Given the description of an element on the screen output the (x, y) to click on. 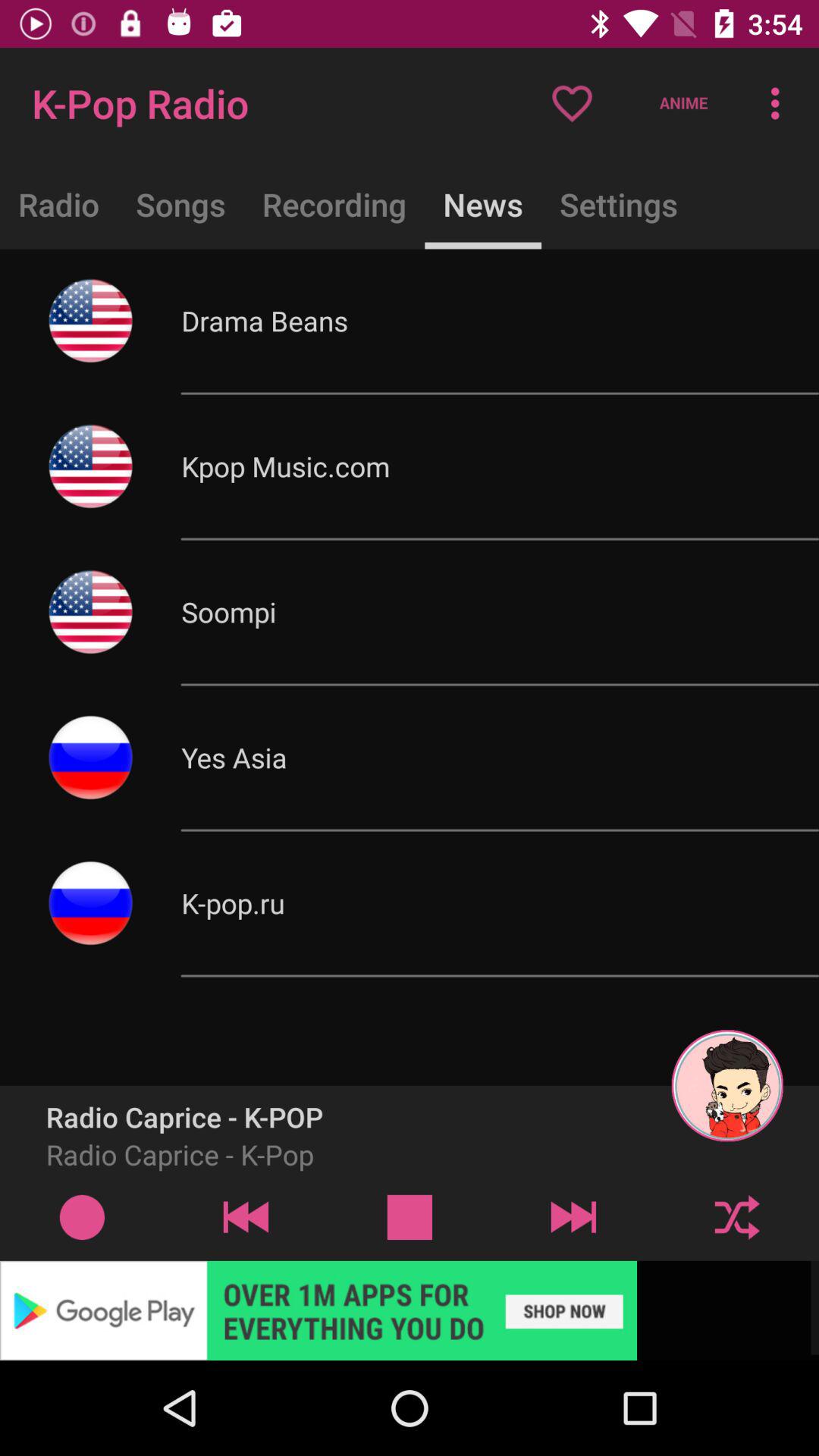
toggle to record (81, 1216)
